Given the description of an element on the screen output the (x, y) to click on. 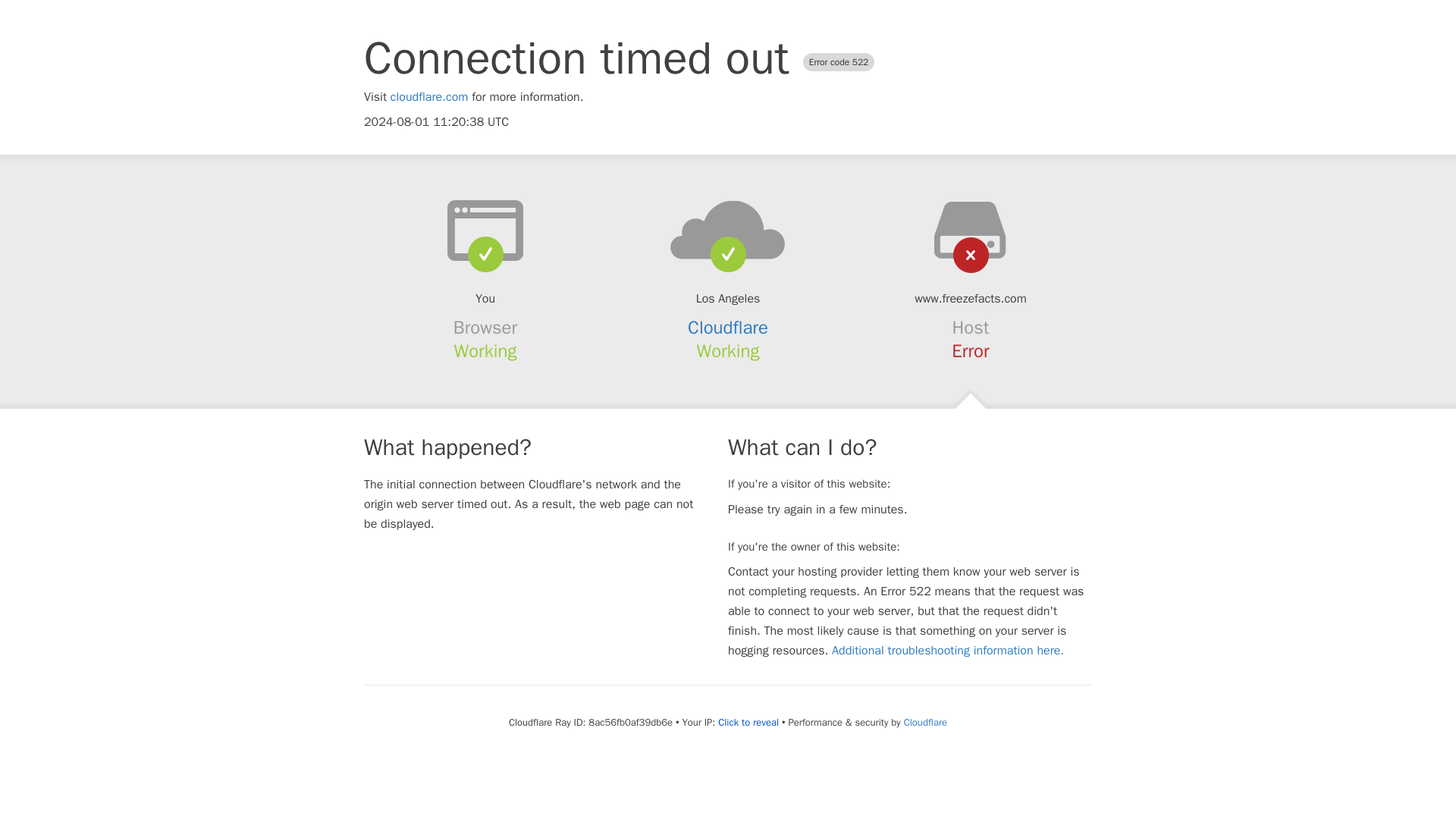
cloudflare.com (429, 96)
Additional troubleshooting information here. (947, 650)
Click to reveal (747, 722)
Cloudflare (925, 721)
Cloudflare (727, 327)
